Given the description of an element on the screen output the (x, y) to click on. 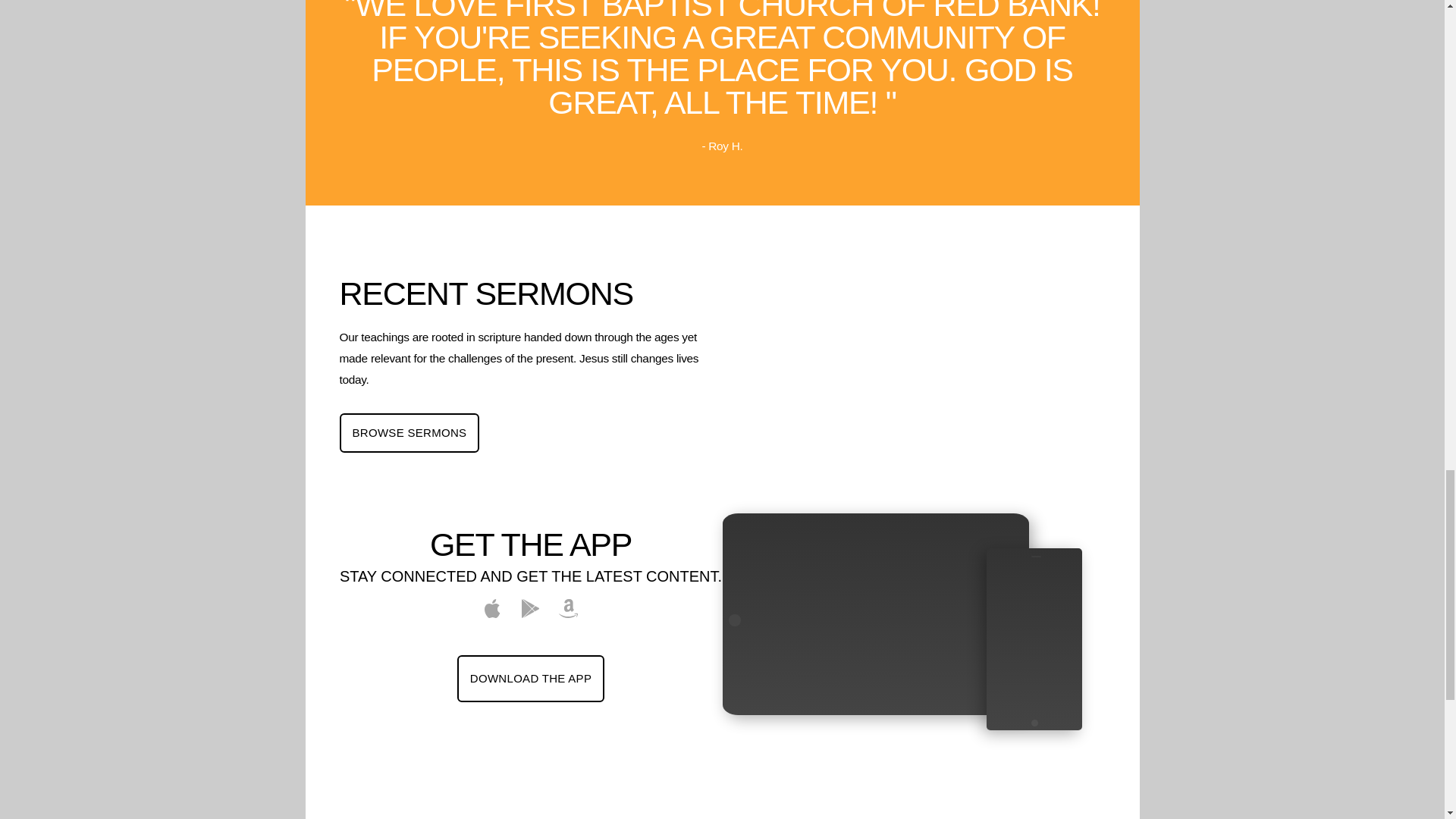
DOWNLOAD THE APP (530, 678)
BROWSE SERMONS (409, 432)
